Given the description of an element on the screen output the (x, y) to click on. 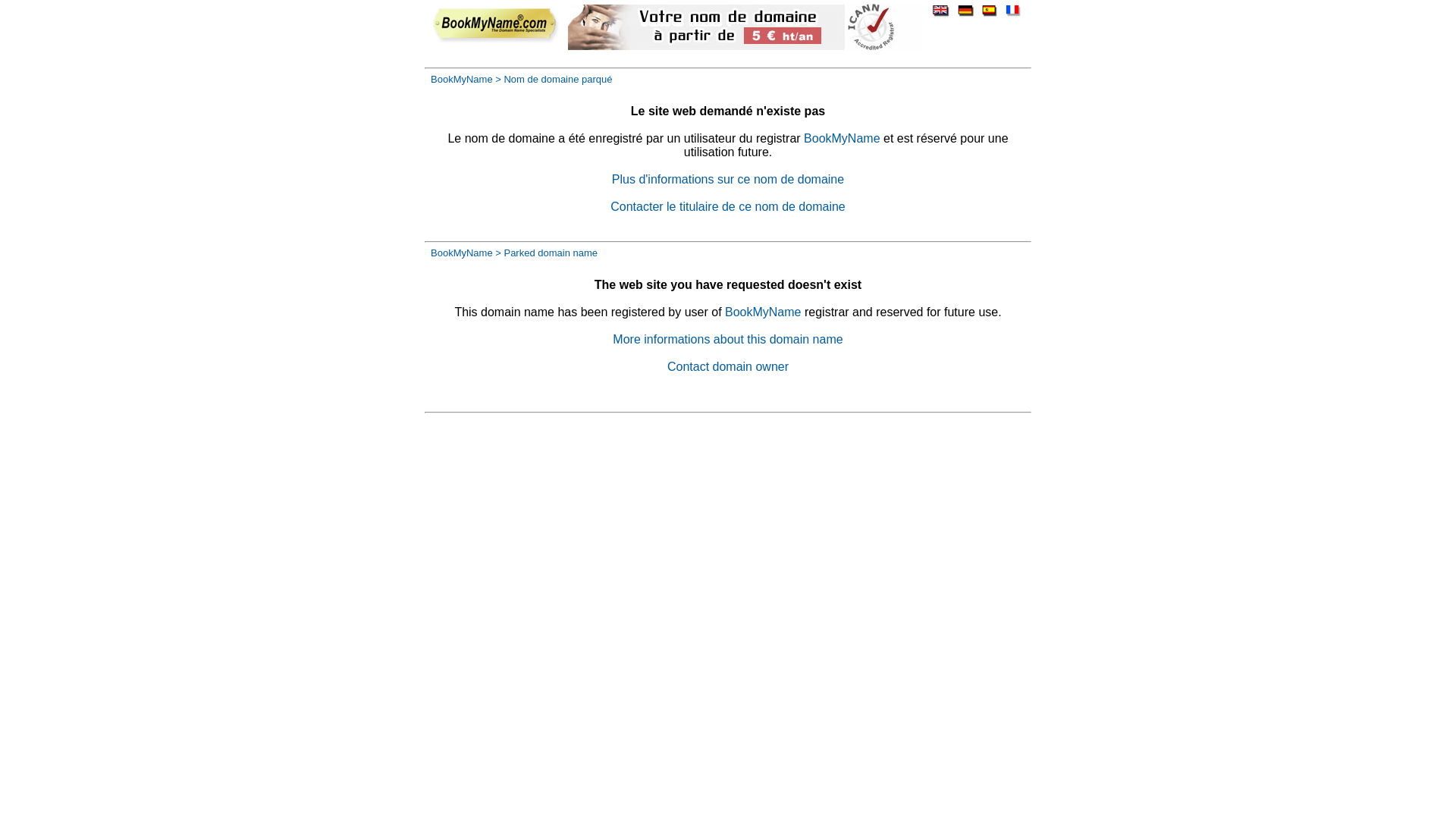
BookMyName Element type: text (461, 78)
Contacter le titulaire de ce nom de domaine Element type: text (727, 206)
Contact domain owner Element type: text (727, 366)
BookMyName Element type: text (461, 252)
BookMyName Element type: text (841, 137)
BookMyName Element type: text (762, 311)
More informations about this domain name Element type: text (727, 338)
Plus d'informations sur ce nom de domaine Element type: text (727, 178)
